Given the description of an element on the screen output the (x, y) to click on. 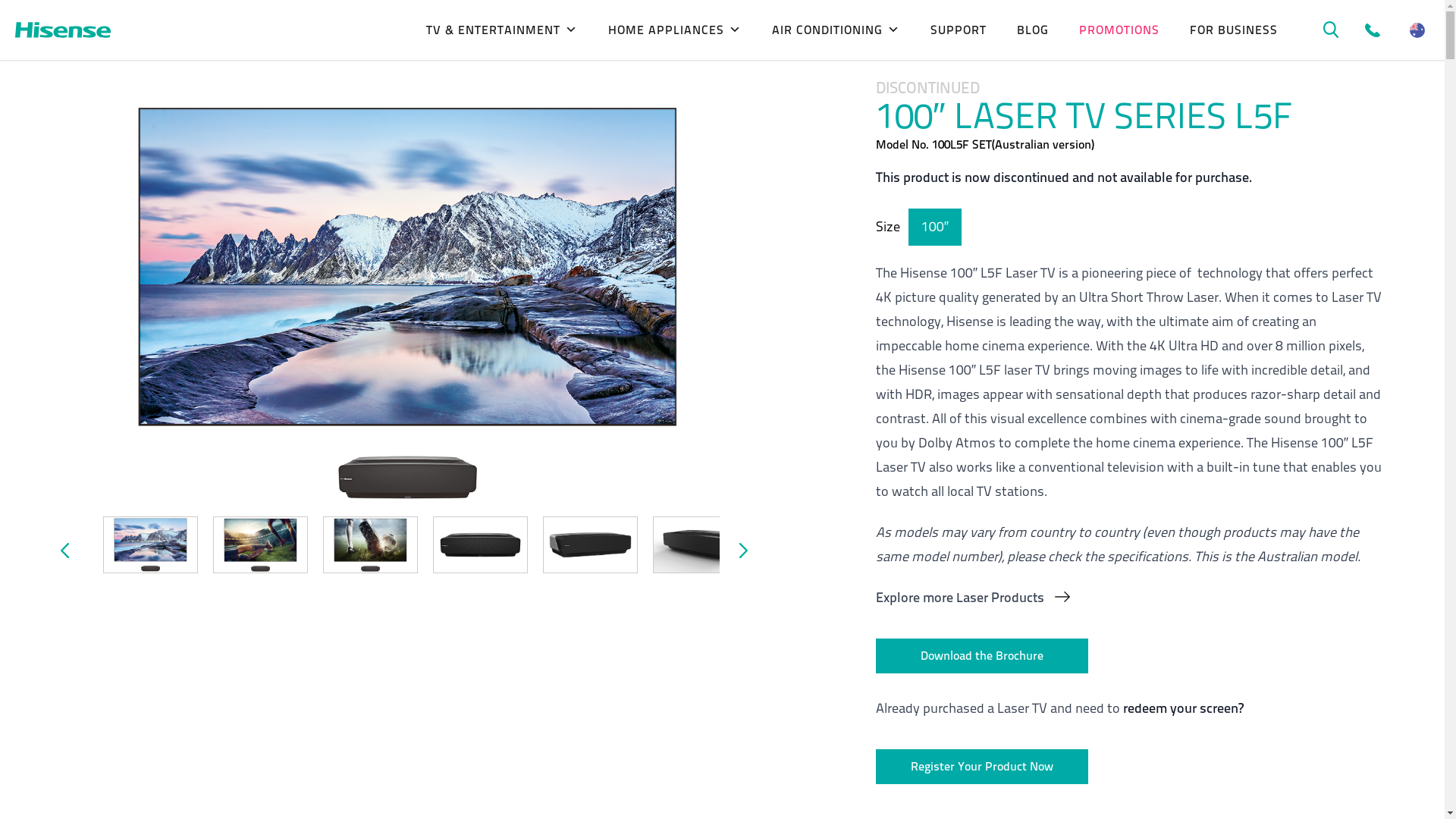
Explore more Laser Products Element type: text (1129, 623)
Register Your Product Now Element type: text (981, 766)
Next Element type: text (758, 570)
FOR BUSINESS Element type: text (1233, 29)
PROMOTIONS Element type: text (1118, 29)
BLOG Element type: text (1032, 29)
SUPPORT Element type: text (958, 29)
Previous Element type: text (83, 570)
HOME APPLIANCES Element type: text (674, 29)
TV & ENTERTAINMENT Element type: text (502, 29)
AIR CONDITIONING Element type: text (835, 29)
Download the Brochure Element type: text (981, 655)
